Given the description of an element on the screen output the (x, y) to click on. 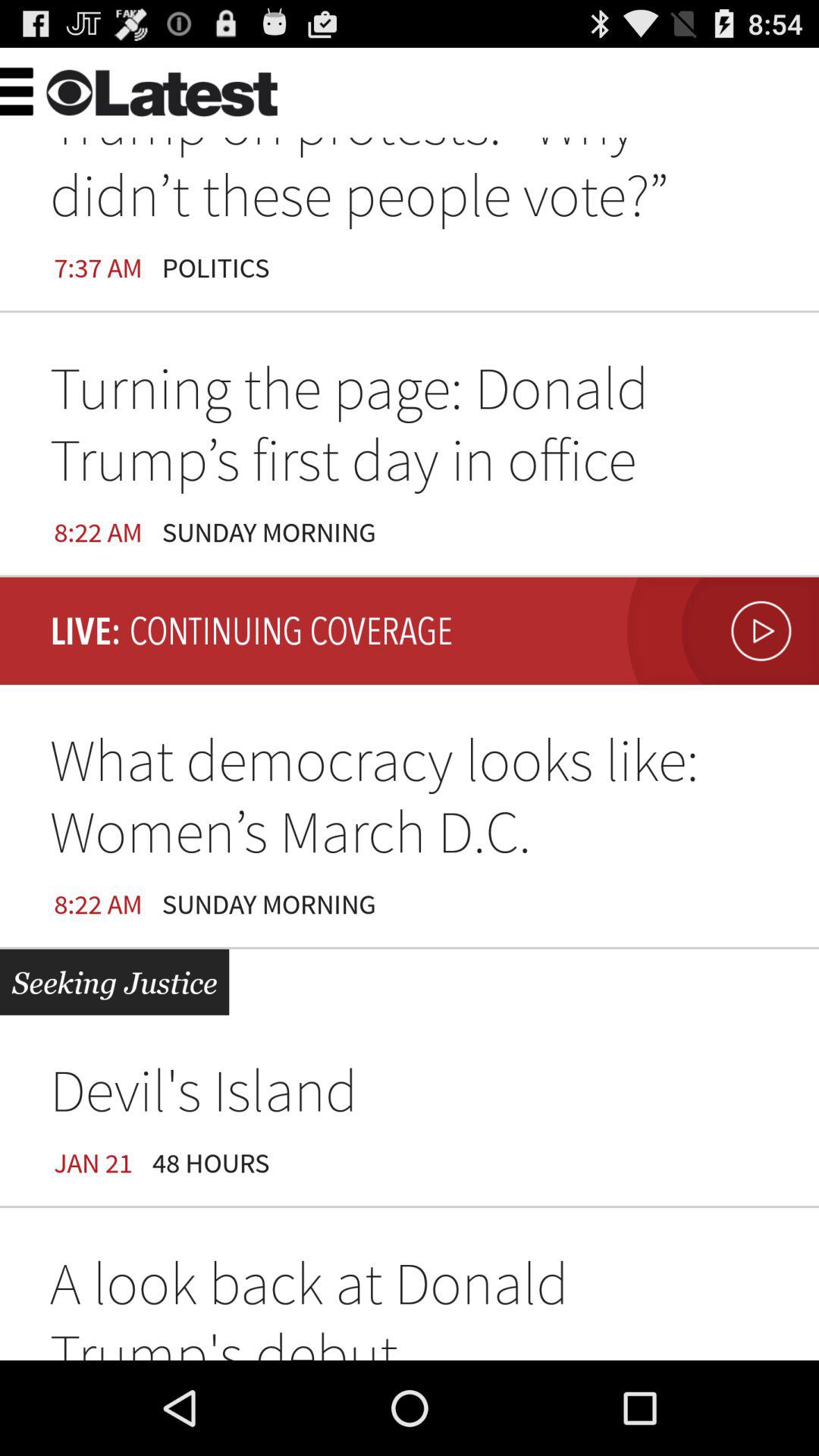
view menu (49, 89)
